Given the description of an element on the screen output the (x, y) to click on. 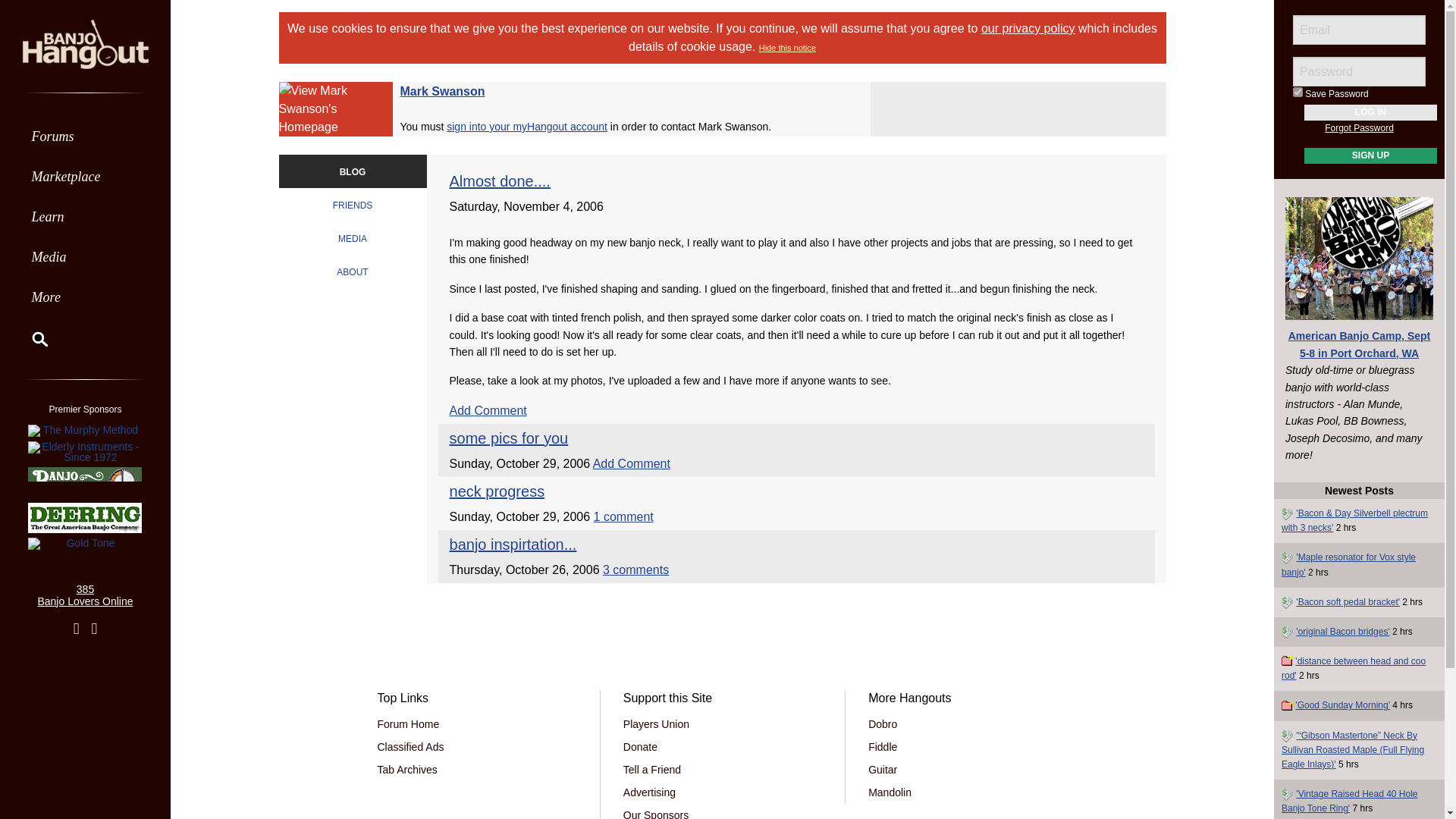
The Murphy Method (84, 429)
true (1297, 91)
Go to Home Page (85, 42)
Gold Tone (84, 543)
Log In (1370, 112)
Forums (85, 136)
Elderly Instruments - Since 1972 (84, 451)
Banjo Bolster Tone Enhancer (84, 482)
Marketplace (85, 176)
Sign Up (1370, 155)
